Given the description of an element on the screen output the (x, y) to click on. 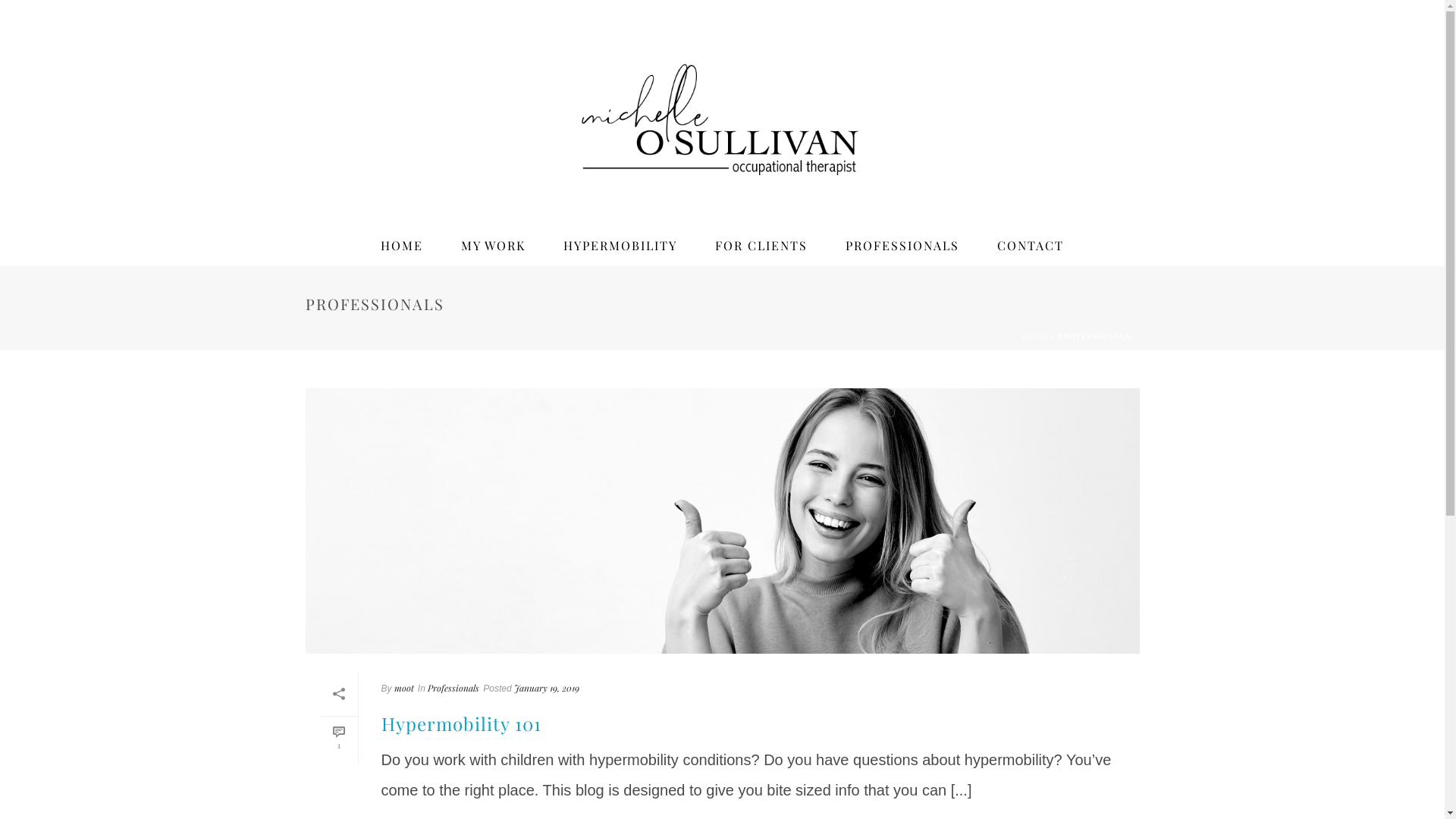
FOR CLIENTS Element type: text (761, 245)
HOME Element type: text (401, 245)
Hypermobility 101 Element type: hover (721, 520)
Hypermobility 101 Element type: text (460, 723)
1 Element type: text (338, 738)
MY WORK Element type: text (493, 245)
PROFESSIONALS Element type: text (902, 245)
Professionals Element type: text (453, 687)
January 19, 2019 Element type: text (546, 687)
HOME Element type: text (1033, 335)
moot Element type: text (404, 687)
CONTACT Element type: text (1030, 245)
HYPERMOBILITY Element type: text (620, 245)
Michelle O'Sullivan Occupational Therapist Element type: hover (722, 112)
